Given the description of an element on the screen output the (x, y) to click on. 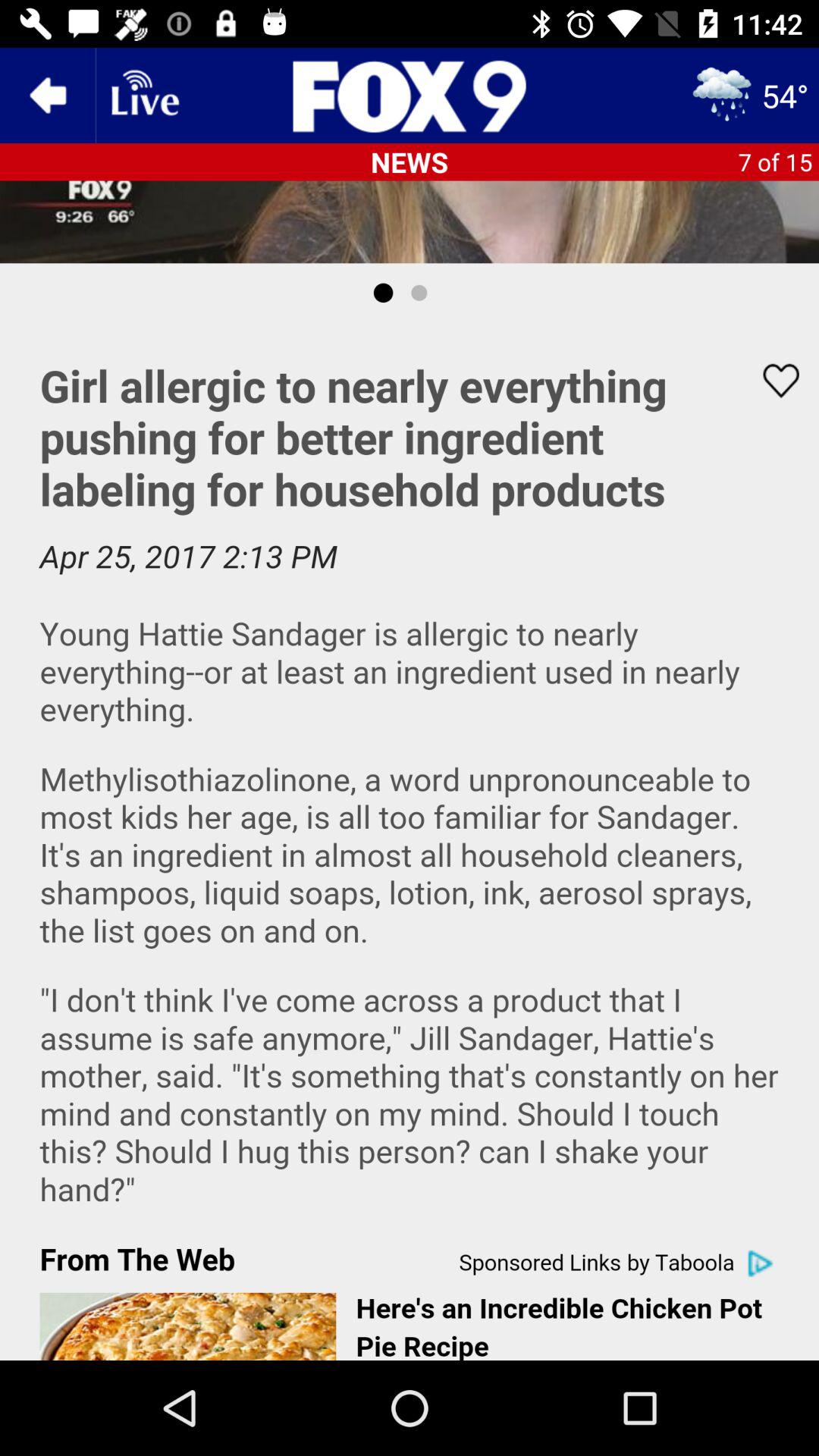
fox9 news app live status (143, 95)
